Given the description of an element on the screen output the (x, y) to click on. 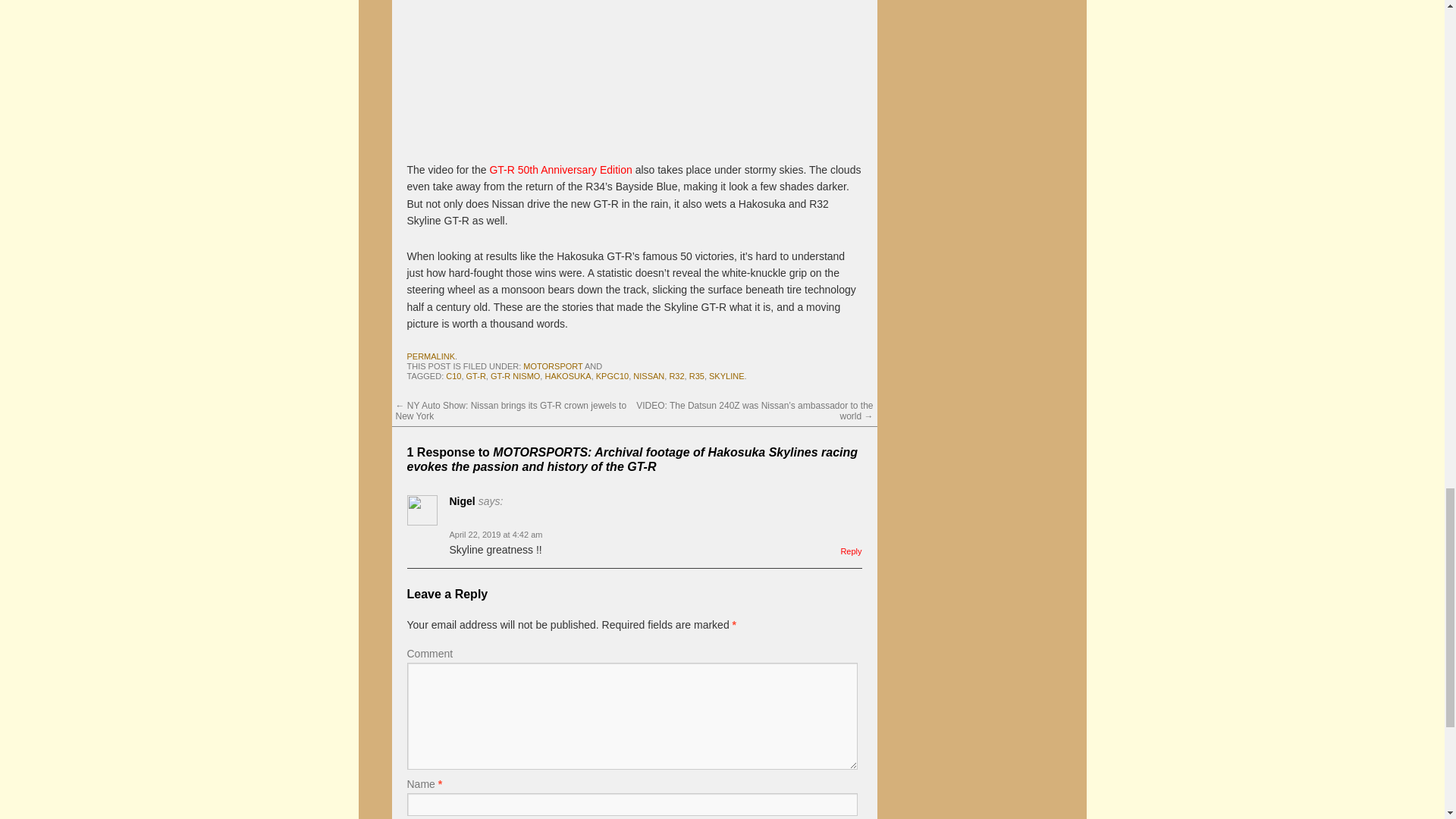
HAKOSUKA (567, 375)
PERMALINK (430, 356)
R35 (696, 375)
GT-R 50th Anniversary Edition (560, 169)
MOTORSPORT (552, 366)
KPGC10 (611, 375)
C10 (453, 375)
NISSAN (648, 375)
April 22, 2019 at 4:42 am (494, 533)
Reply (850, 551)
R32 (676, 375)
GT-R (475, 375)
SKYLINE (726, 375)
GT-R NISMO (515, 375)
